Given the description of an element on the screen output the (x, y) to click on. 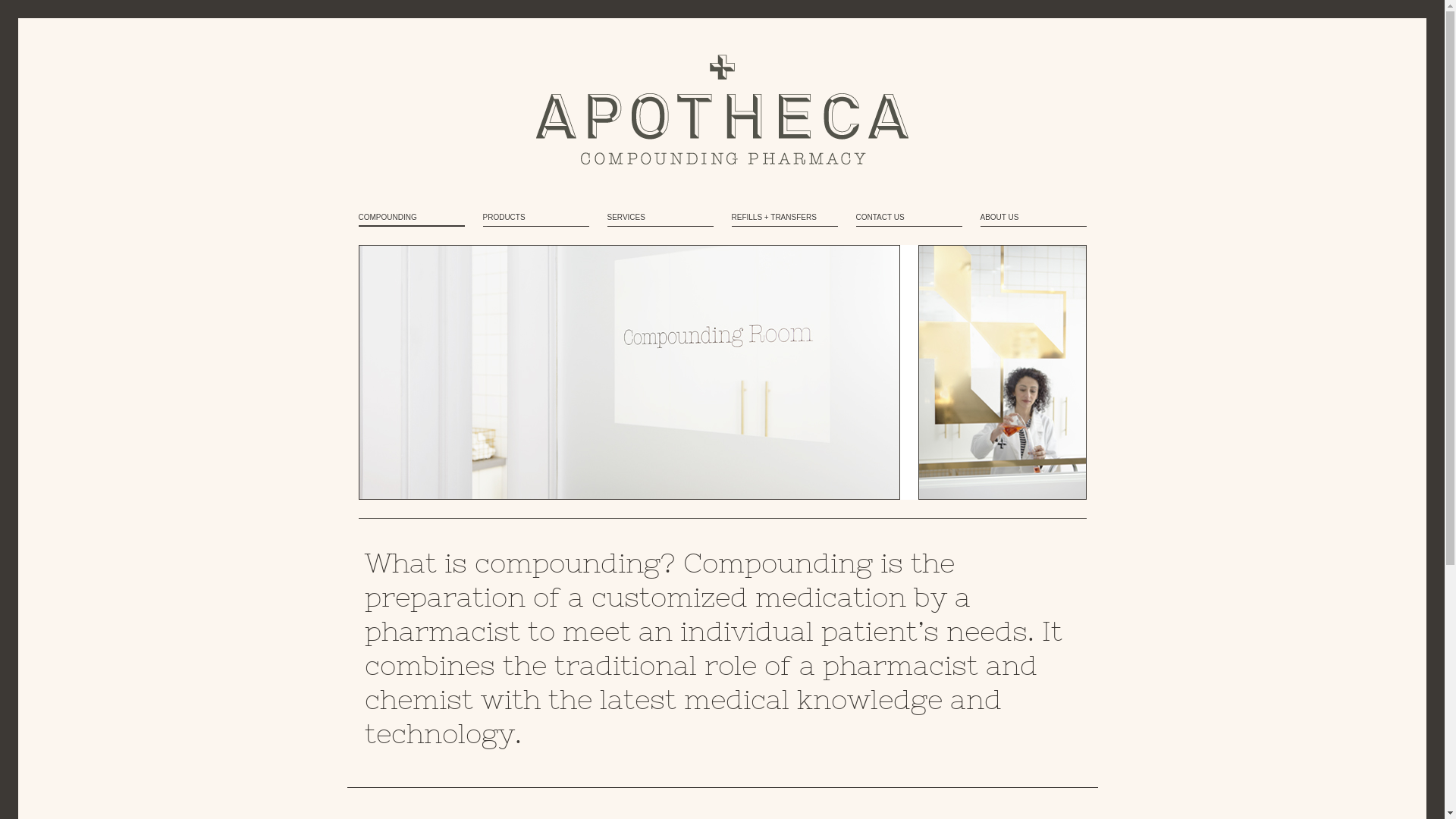
COMPOUNDING Element type: text (410, 218)
PRODUCTS Element type: text (535, 218)
REFILLS + TRANSFERS Element type: text (784, 218)
CONTACT US Element type: text (908, 218)
ABOUT US Element type: text (1032, 218)
SERVICES Element type: text (659, 218)
